Given the description of an element on the screen output the (x, y) to click on. 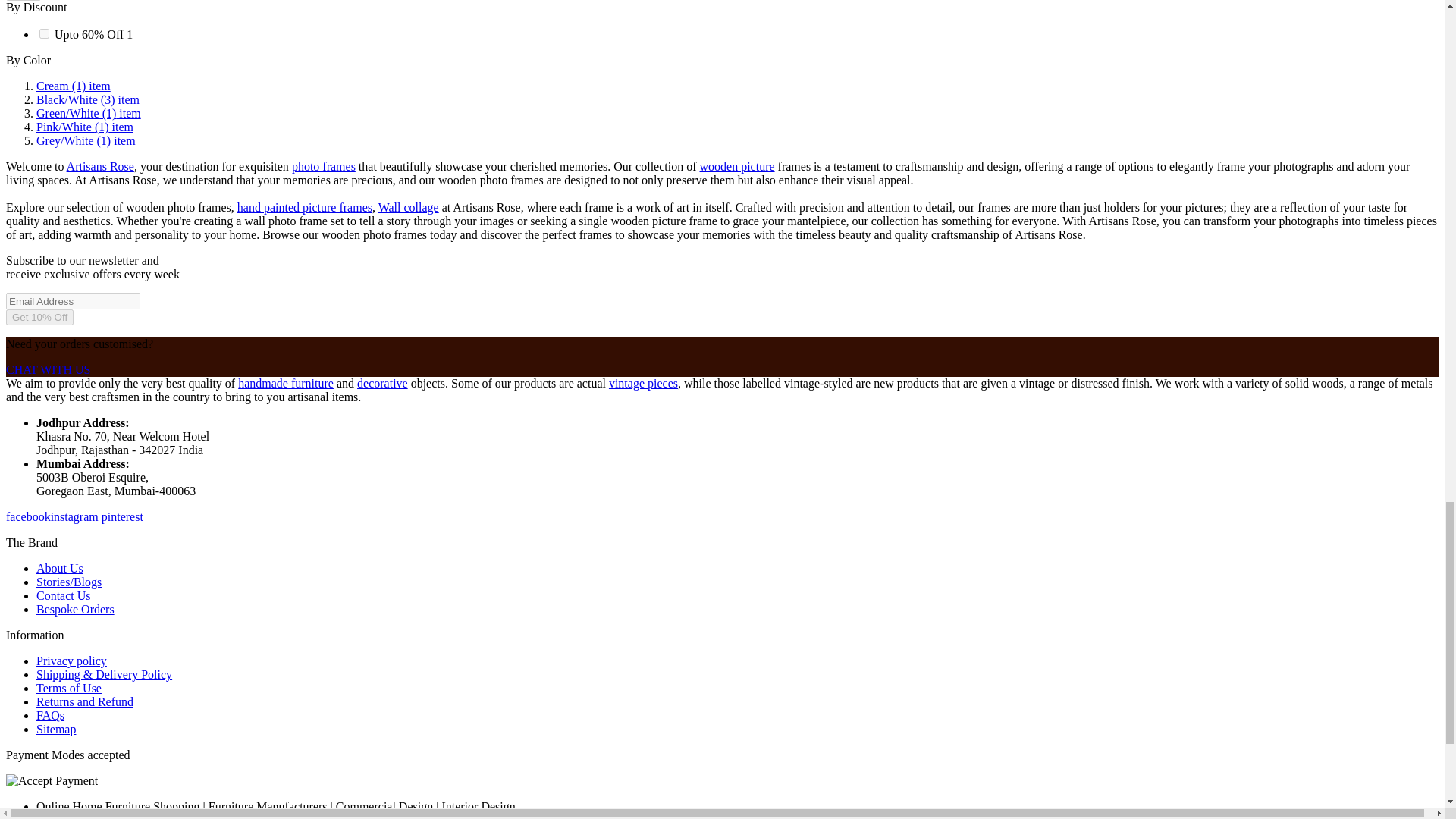
139 (44, 33)
